Given the description of an element on the screen output the (x, y) to click on. 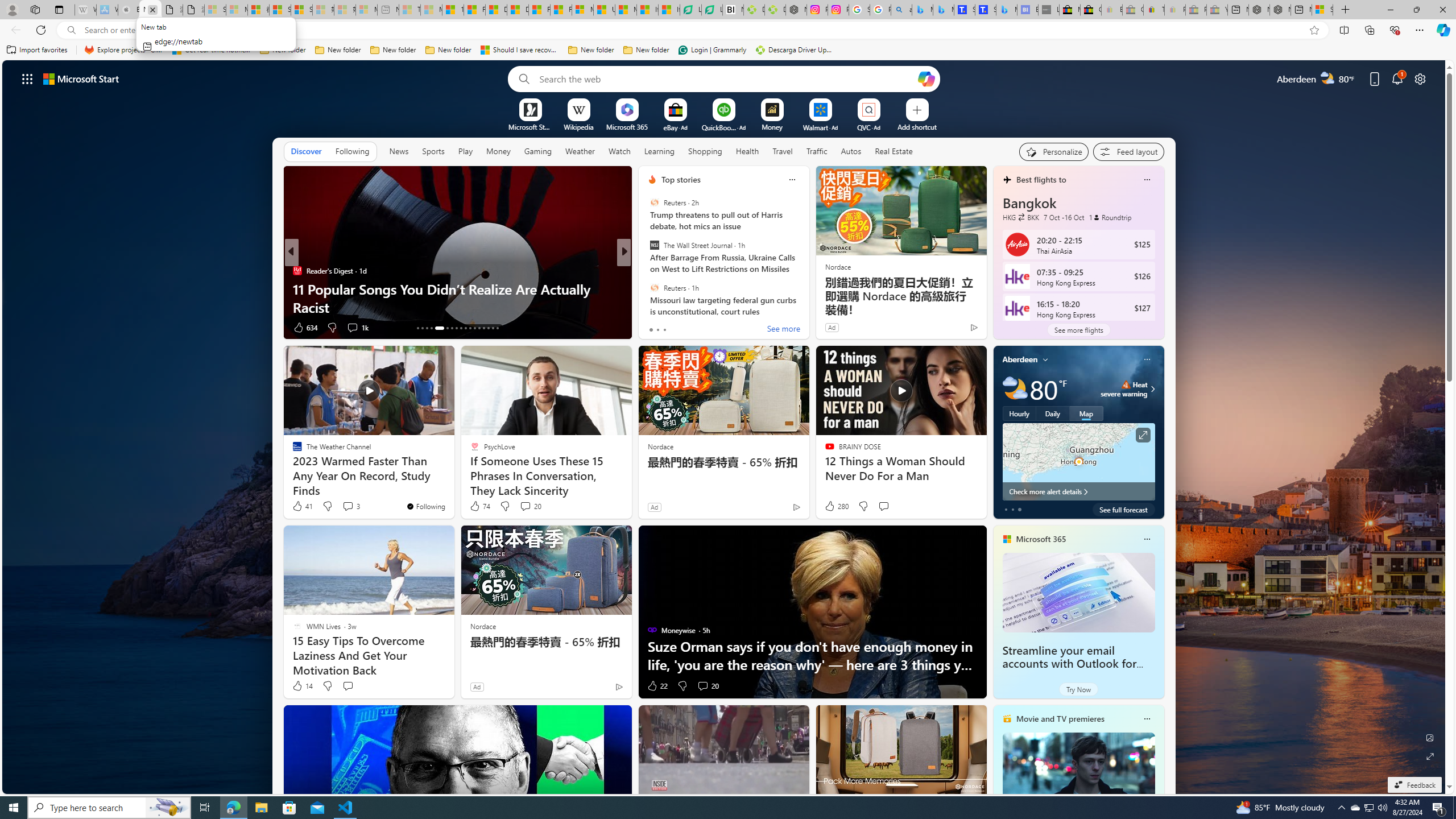
Threats and offensive language policy | eBay (1153, 9)
Top Stories - MSN - Sleeping (409, 9)
Top stories (680, 179)
